Given the description of an element on the screen output the (x, y) to click on. 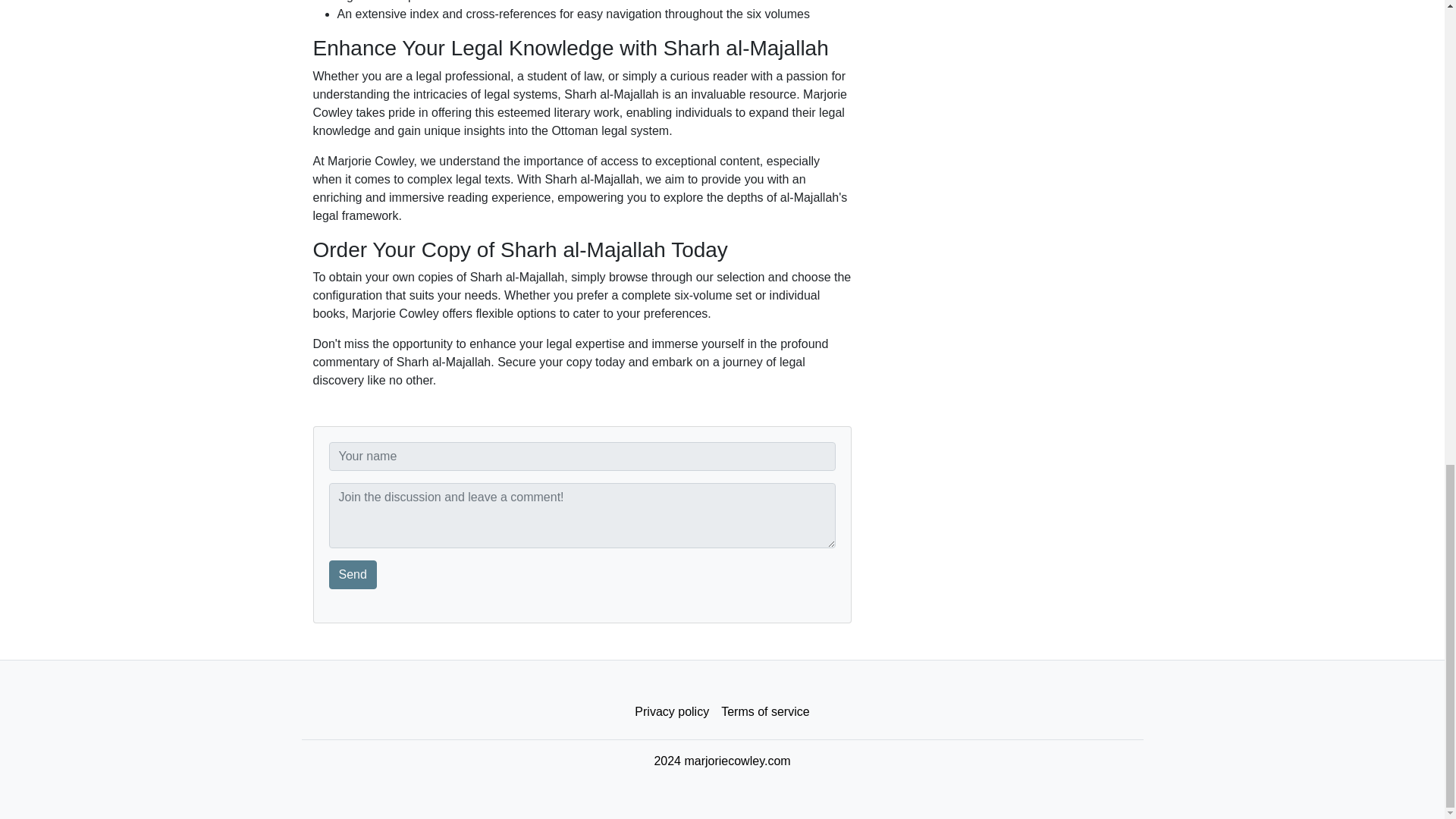
Send (353, 574)
Send (353, 574)
Terms of service (764, 711)
Privacy policy (671, 711)
